Given the description of an element on the screen output the (x, y) to click on. 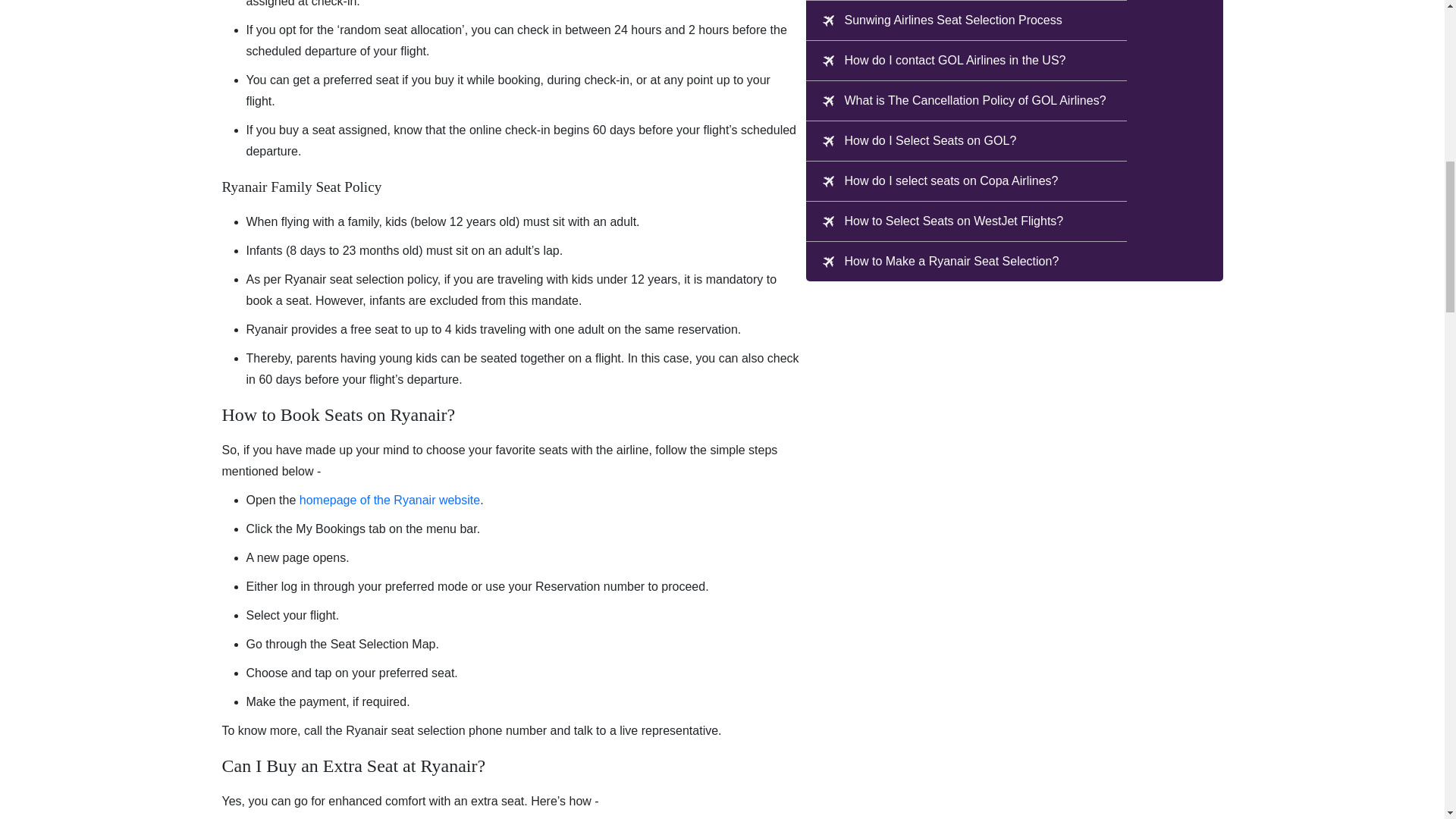
How do I contact GOL Airlines in the US? (954, 60)
How do I Select Seats on GOL? (930, 140)
How do I select seats on Copa Airlines? (950, 181)
How to Select Seats on WestJet Flights? (953, 221)
What is The Cancellation Policy of GOL Airlines? (974, 100)
homepage of the Ryanair website (389, 499)
How to Make a Ryanair Seat Selection? (951, 261)
Sunwing Airlines Seat Selection Process (952, 20)
